Given the description of an element on the screen output the (x, y) to click on. 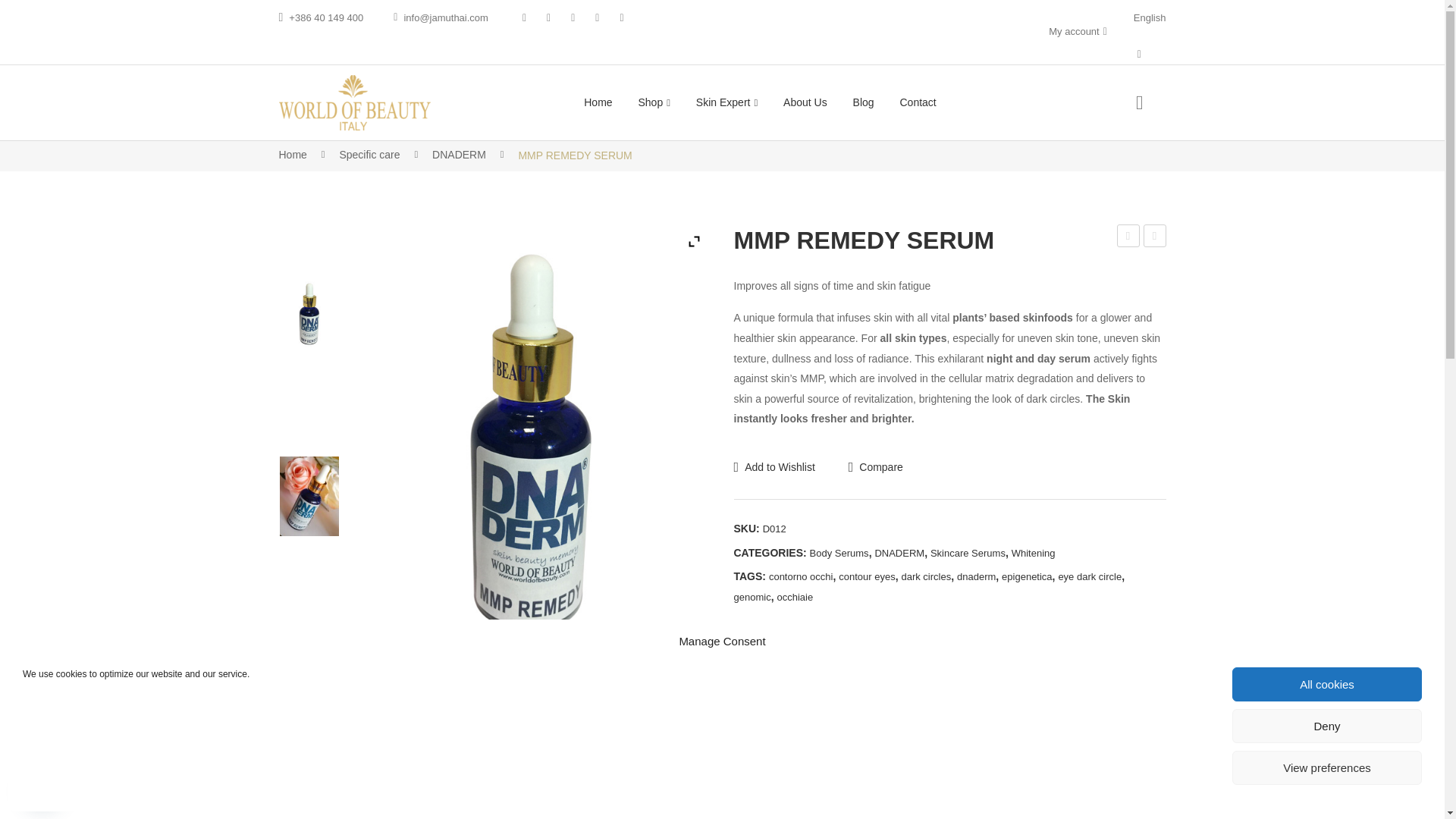
View preferences (1326, 767)
English (1150, 18)
All cookies (1326, 684)
Deny (1326, 725)
English (1150, 18)
logo (354, 102)
